Given the description of an element on the screen output the (x, y) to click on. 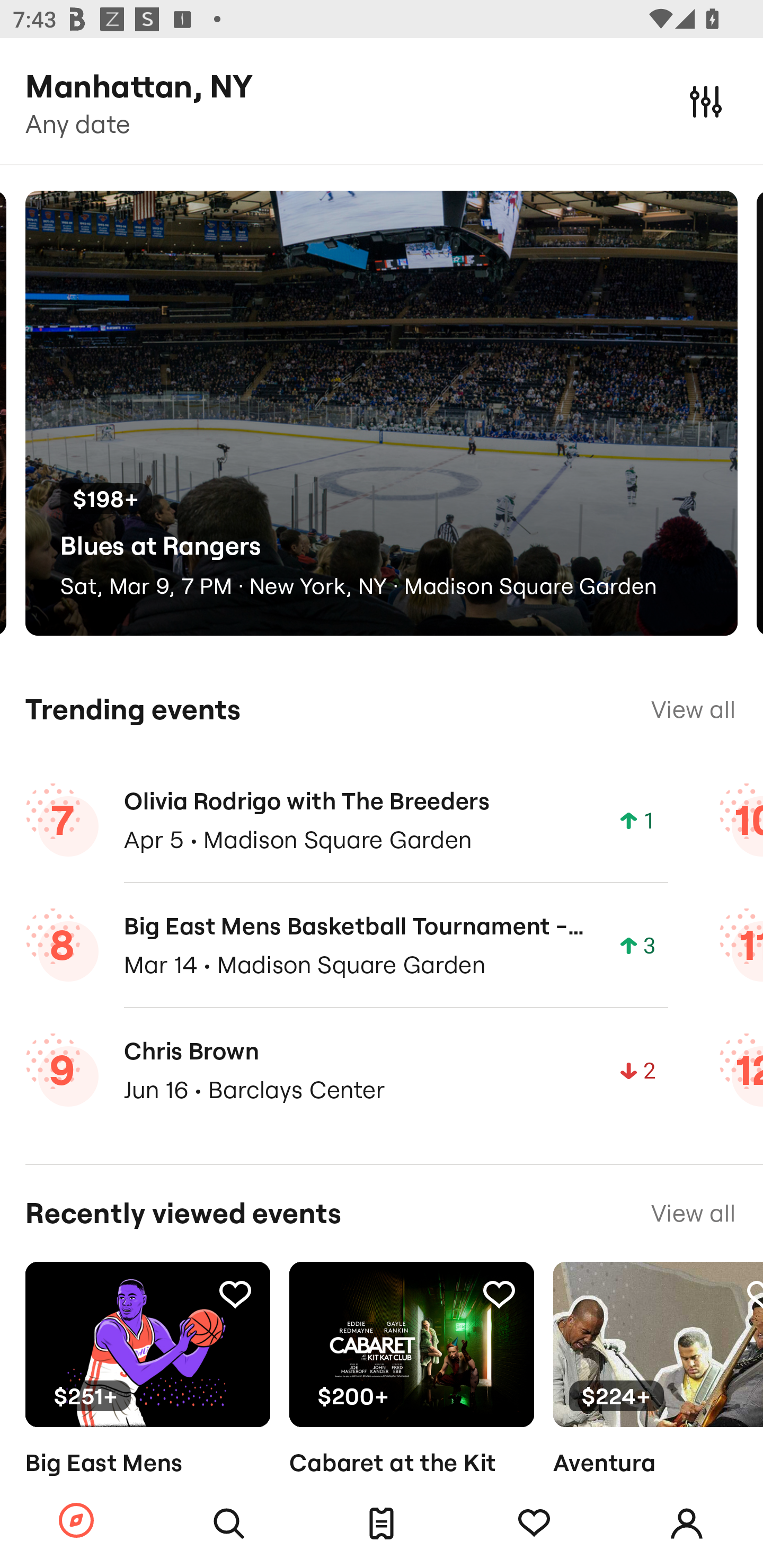
Filters (705, 100)
View all (693, 709)
View all (693, 1213)
Tracking $224+ Aventura Thu, May 30, 8 PM (658, 1399)
Tracking (234, 1293)
Tracking (498, 1293)
Browse (76, 1521)
Search (228, 1523)
Tickets (381, 1523)
Tracking (533, 1523)
Account (686, 1523)
